Given the description of an element on the screen output the (x, y) to click on. 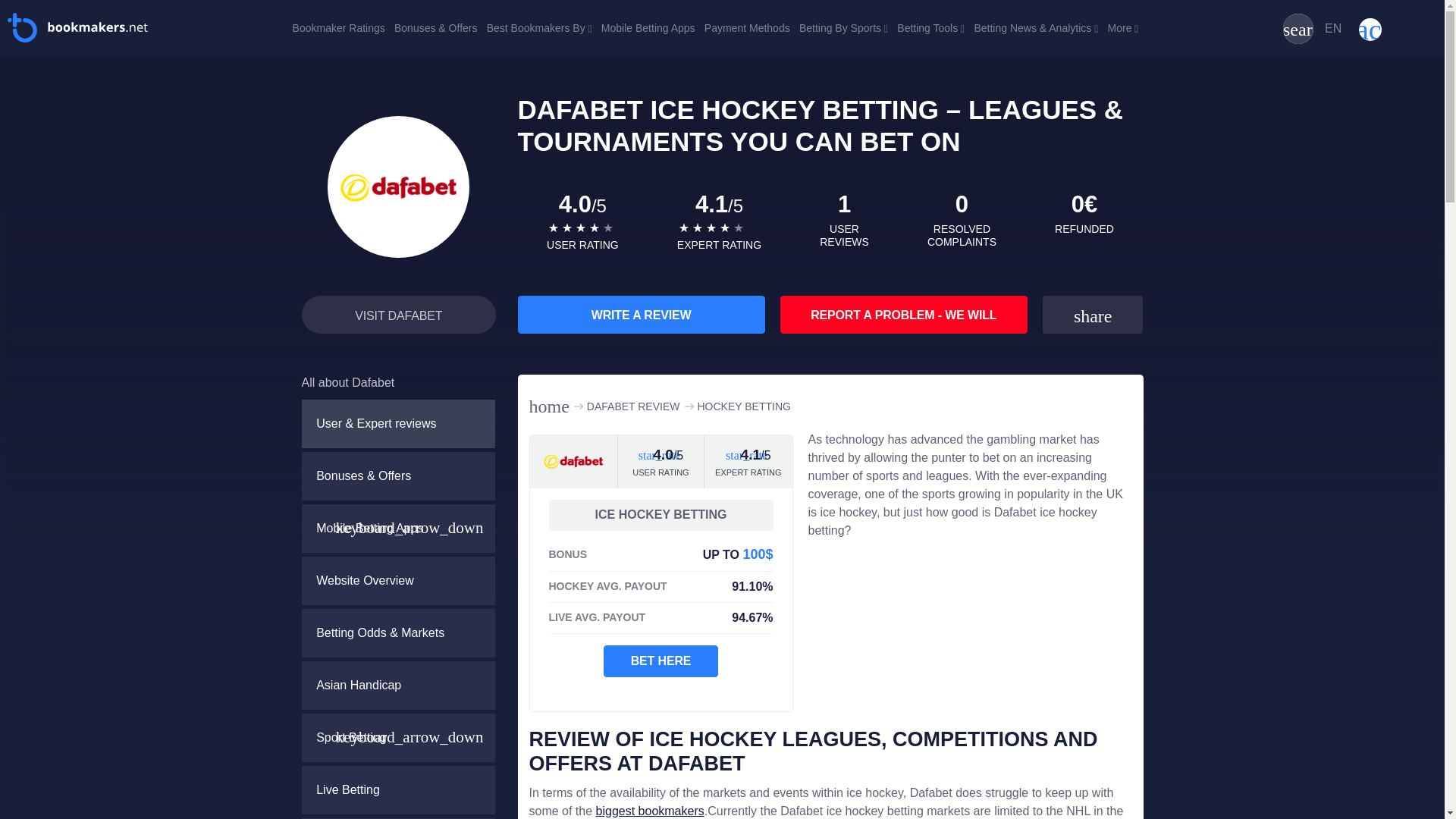
Dafabet bonus (397, 475)
Best Bookmakers By (539, 27)
Betting By Sports (843, 27)
Bookmaker Ratings (338, 27)
Mobile Betting Apps (648, 27)
Dafabet live betting odds (397, 789)
Betting Tools (929, 27)
Dafabet  (397, 685)
Dafabet betting odds (397, 632)
Dafabet website (397, 580)
Dafabet review (397, 423)
Payment Methods (747, 27)
